Given the description of an element on the screen output the (x, y) to click on. 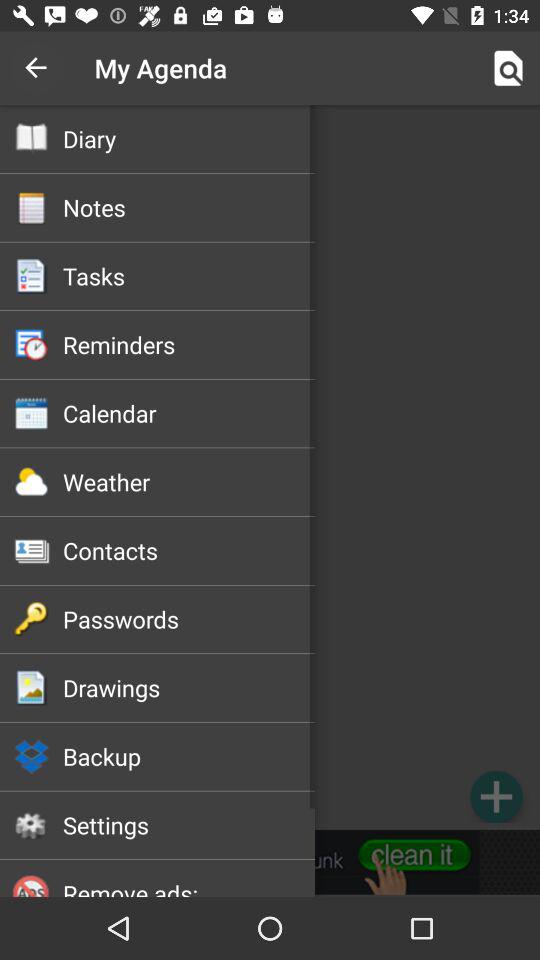
turn off the icon below contacts (188, 619)
